Given the description of an element on the screen output the (x, y) to click on. 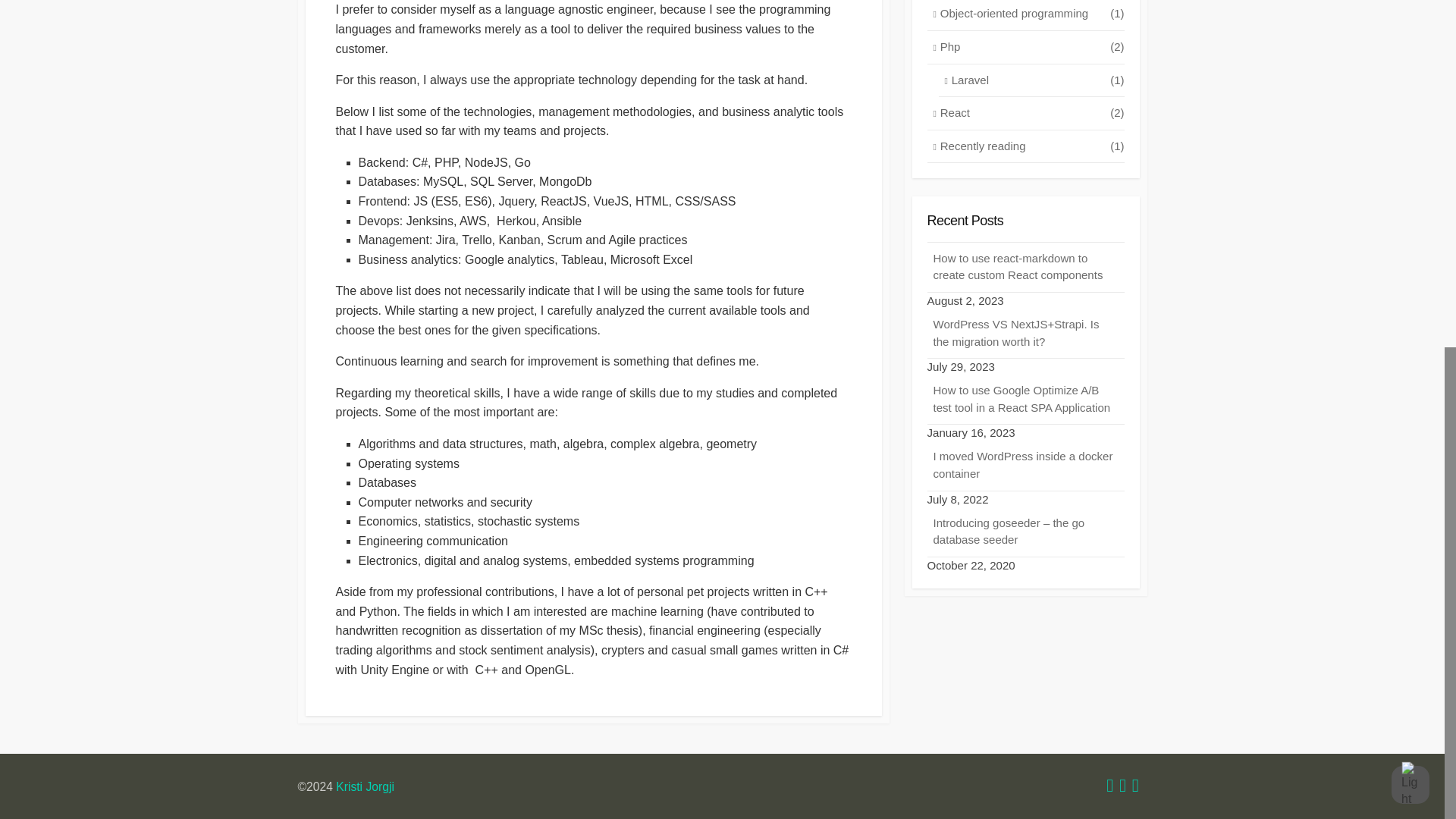
How to use react-markdown to create custom React components (1025, 266)
Kristi Jorgji (365, 786)
I moved WordPress inside a docker container (1025, 465)
